Given the description of an element on the screen output the (x, y) to click on. 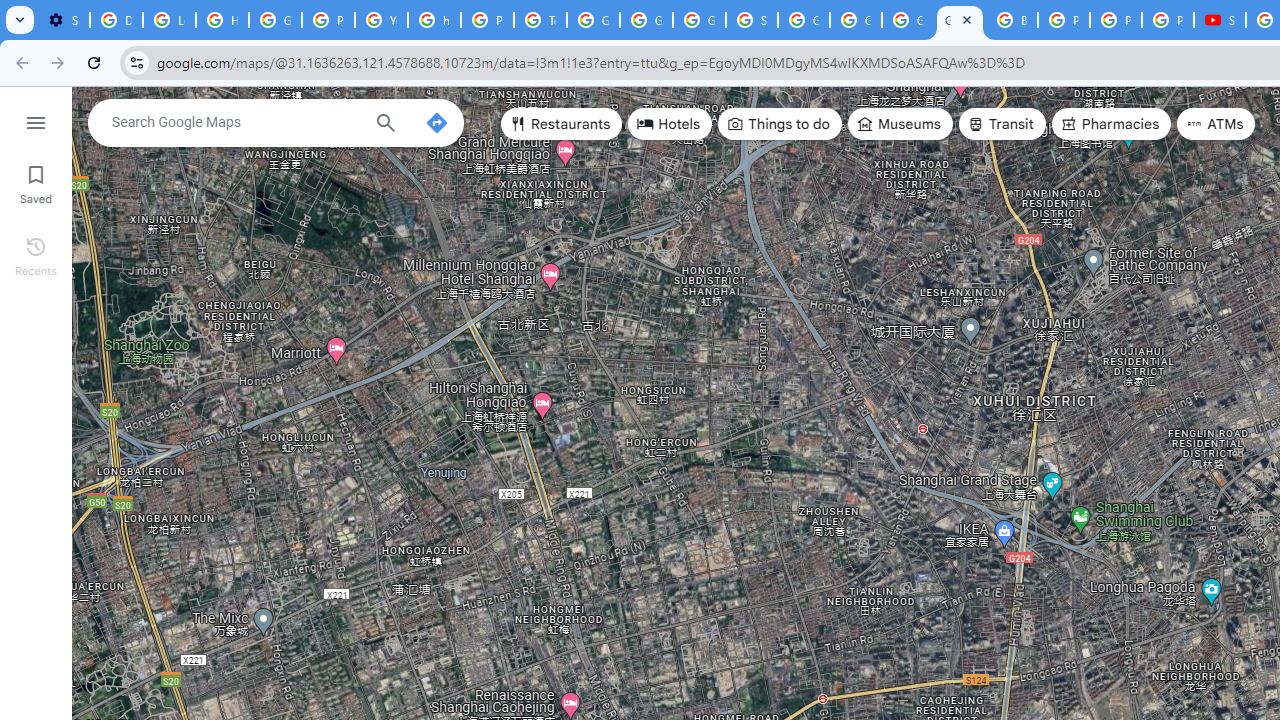
Directions (436, 122)
Privacy Help Center - Policies Help (1064, 20)
Privacy Help Center - Policies Help (328, 20)
Privacy Help Center - Policies Help (487, 20)
Learn how to find your photos - Google Photos Help (169, 20)
Privacy Help Center - Policies Help (1115, 20)
Sign in - Google Accounts (751, 20)
